Given the description of an element on the screen output the (x, y) to click on. 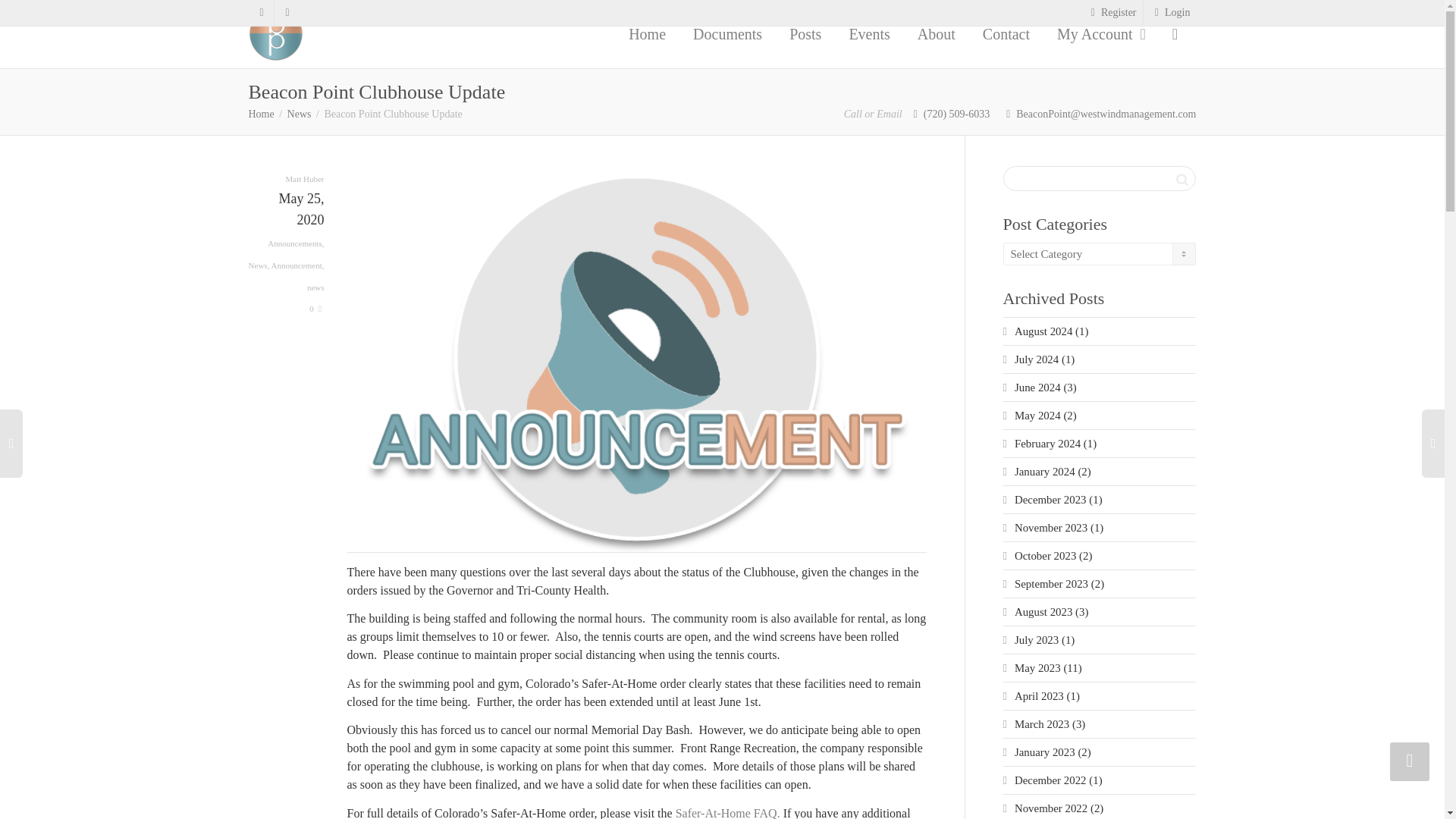
June 2024 (1037, 387)
Search (1181, 178)
Login to the website. (1170, 12)
My Account (1098, 33)
Register (1111, 12)
Beacon Point Metropolitan District (261, 113)
news (315, 286)
January 2024 (1044, 471)
May 2024 (1037, 415)
July 2024 (1036, 358)
